Given the description of an element on the screen output the (x, y) to click on. 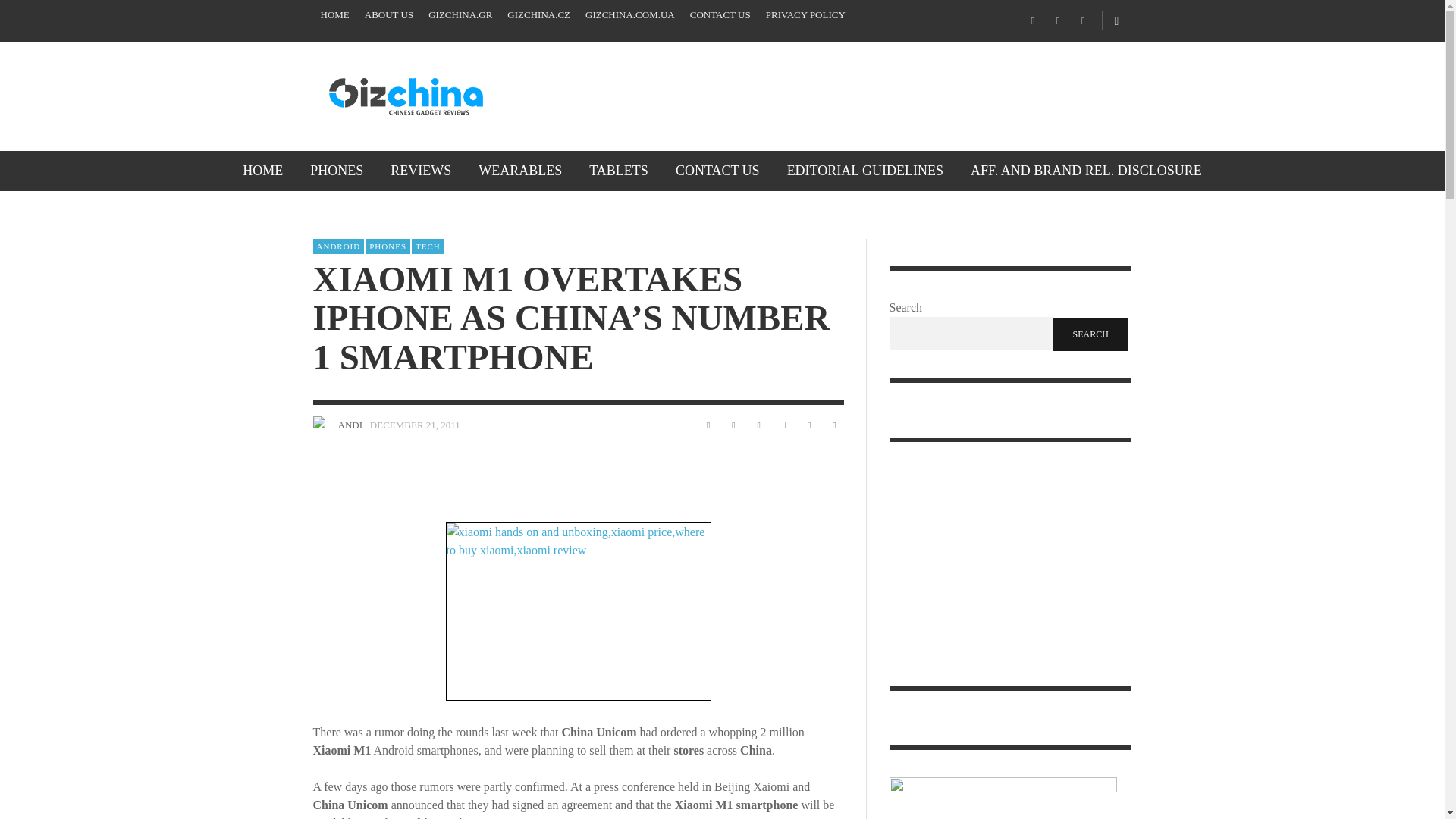
GIZCHINA.COM.UA (630, 15)
GIZCHINA.CZ (538, 15)
CONTACT US (720, 15)
PRIVACY POLICY (805, 15)
HOME (262, 170)
PHONES (337, 170)
HOME (334, 15)
ABOUT US (388, 15)
REVIEWS (420, 170)
GIZCHINA.GR (459, 15)
